Given the description of an element on the screen output the (x, y) to click on. 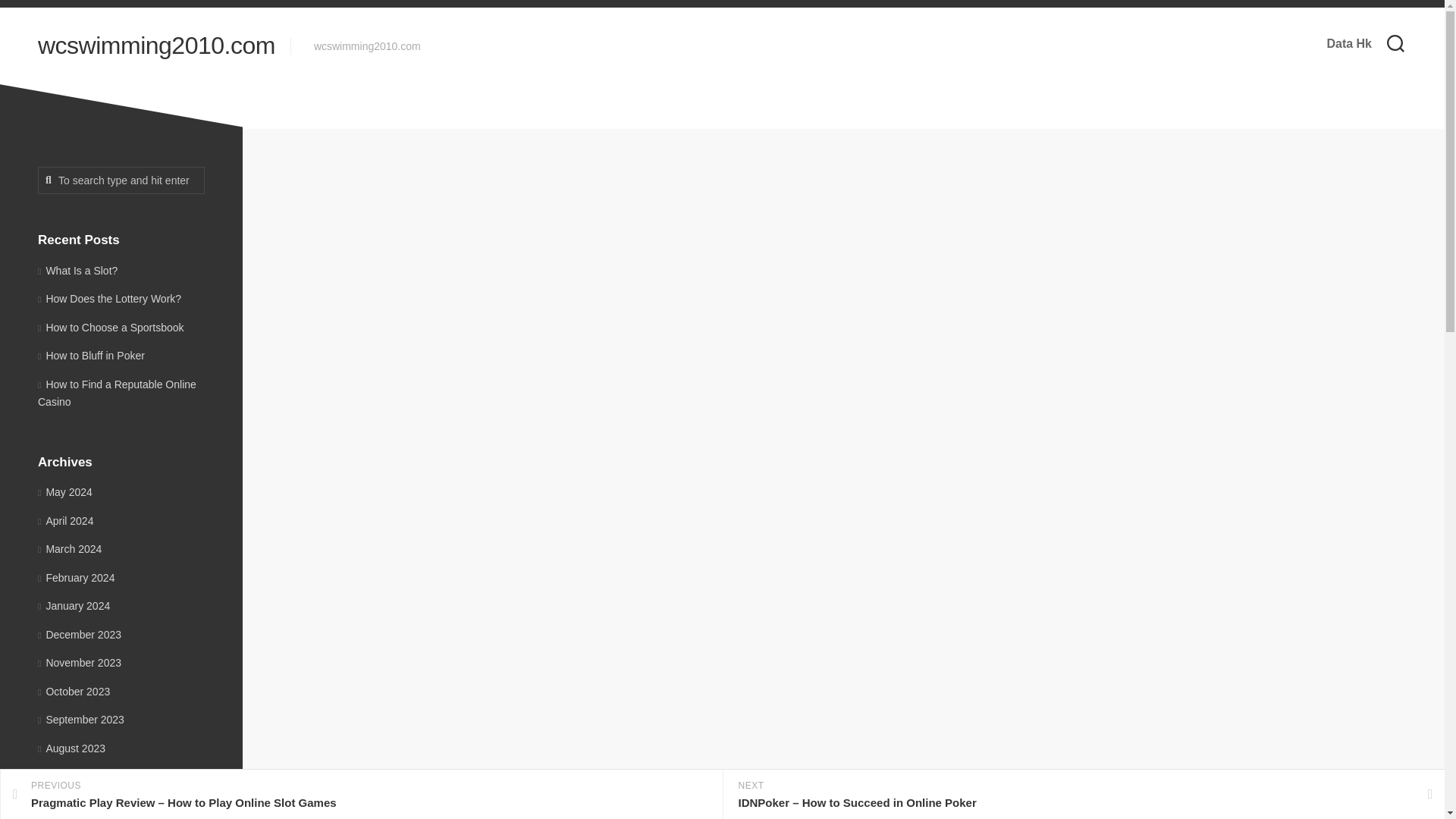
How to Find a Reputable Online Casino (116, 392)
How Does the Lottery Work? (108, 298)
May 2024 (65, 491)
March 2024 (69, 548)
June 2023 (66, 805)
Gambling (842, 281)
How to Bluff in Poker (90, 355)
February 2024 (76, 577)
wcswimming2010 (757, 281)
April 2024 (65, 520)
